Given the description of an element on the screen output the (x, y) to click on. 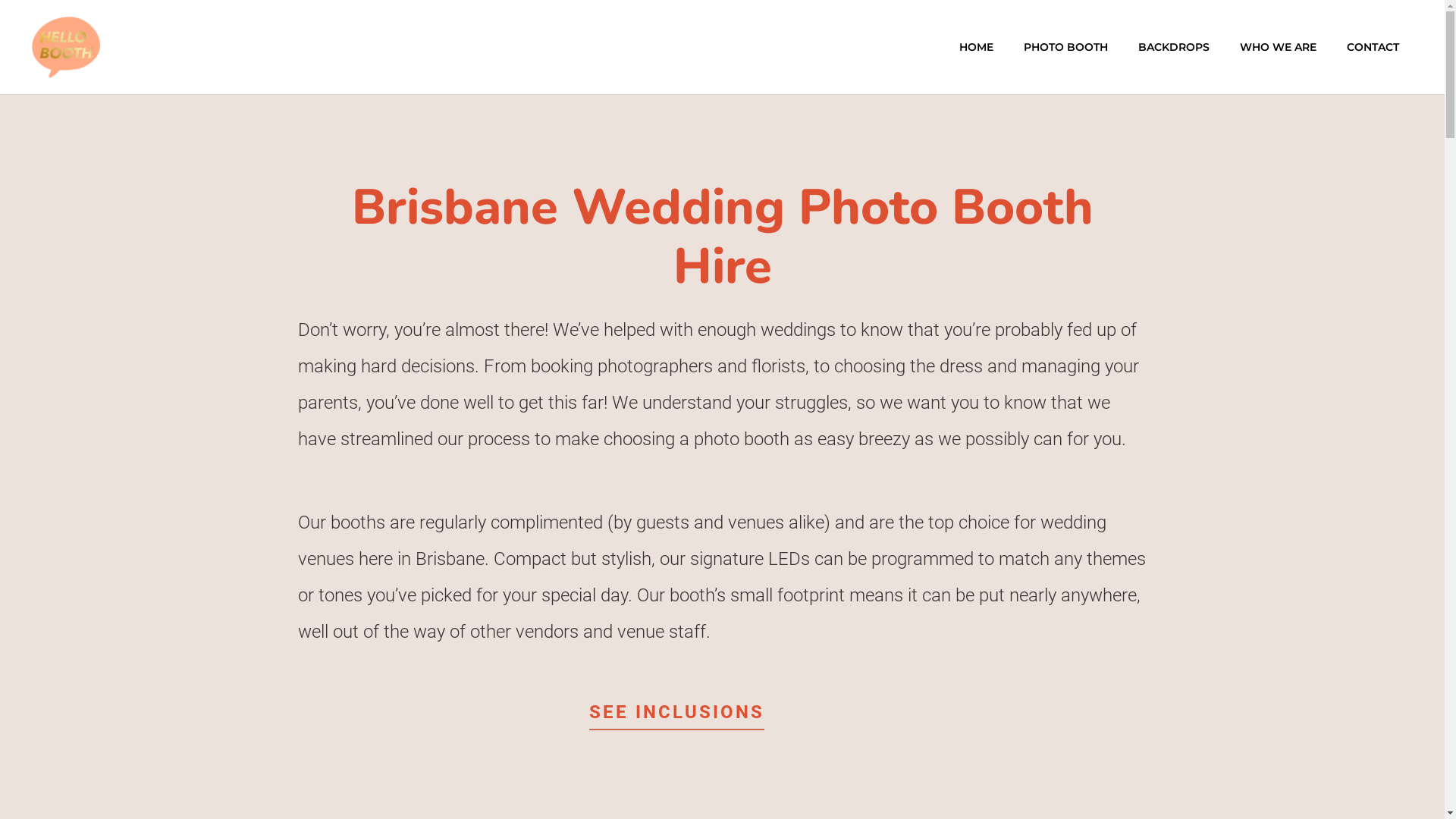
WHO WE ARE Element type: text (1277, 46)
SEE INCLUSIONS Element type: text (676, 716)
HOME Element type: text (976, 46)
PHOTO BOOTH Element type: text (1065, 46)
CONTACT Element type: text (1372, 46)
BACKDROPS Element type: text (1173, 46)
